Given the description of an element on the screen output the (x, y) to click on. 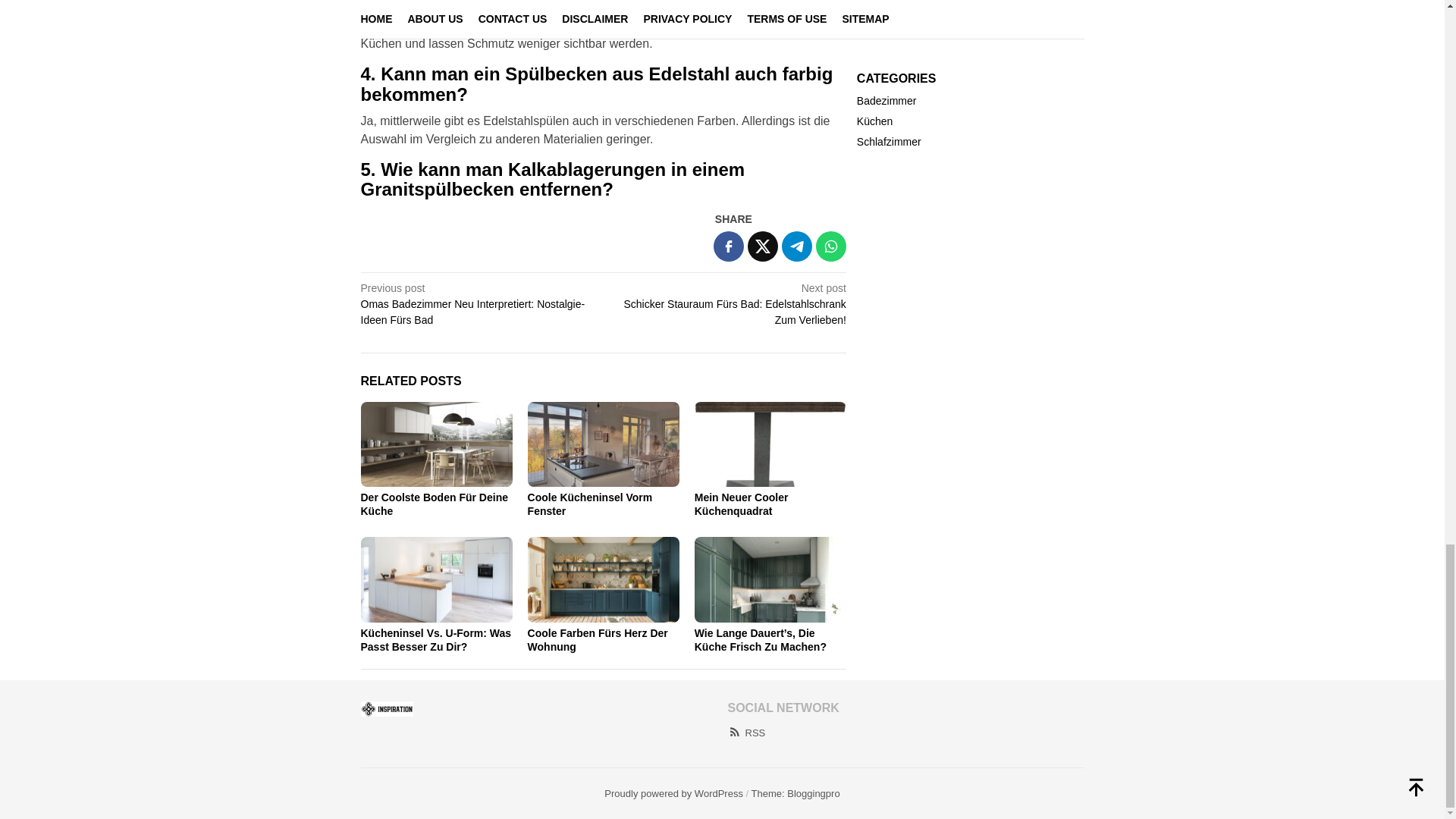
Share this (728, 245)
WhatsApp this (830, 245)
Telegram Share (796, 245)
Tweet this (762, 245)
